Given the description of an element on the screen output the (x, y) to click on. 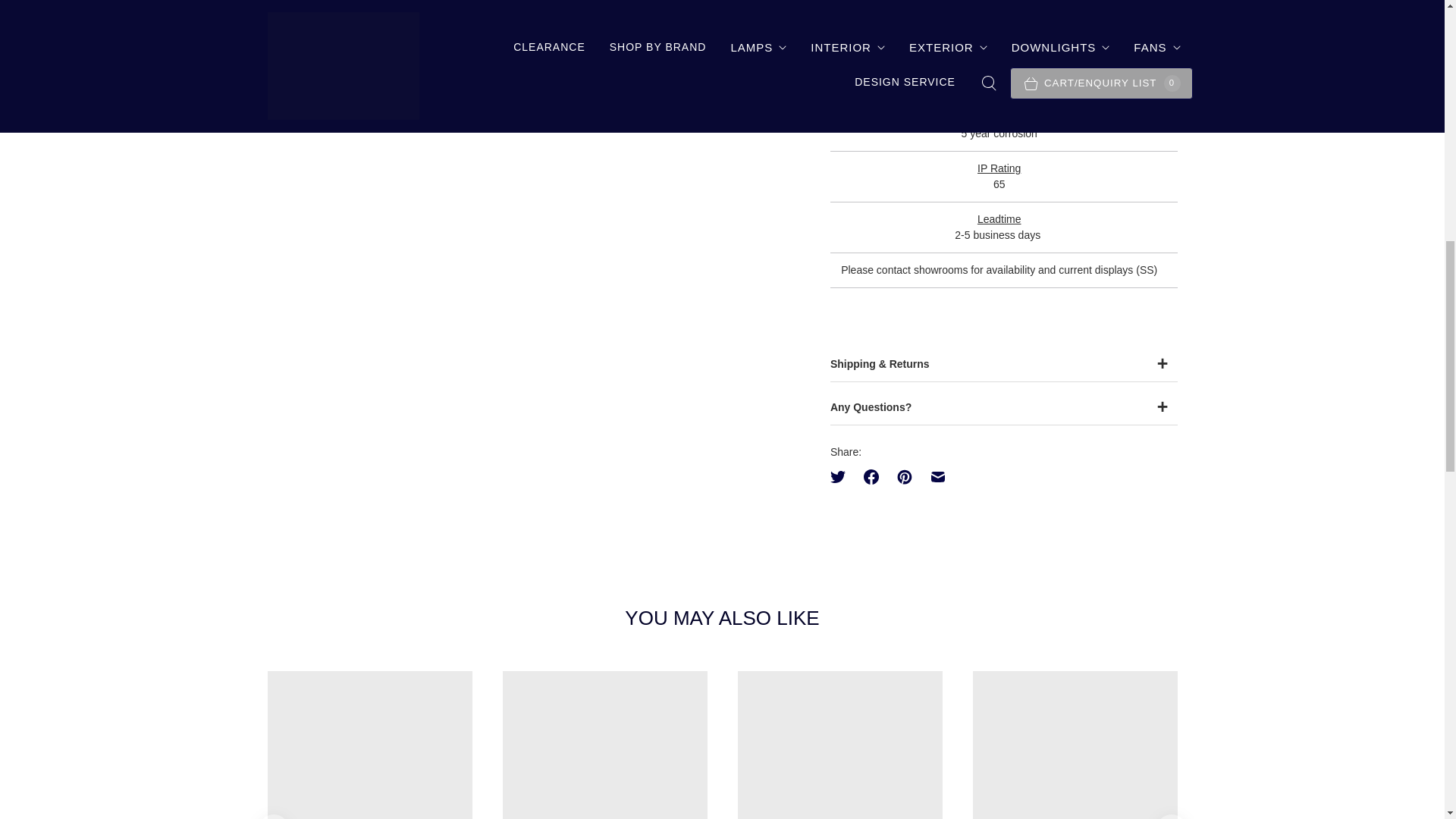
Email this to a friend (938, 476)
Share this on Pinterest (904, 476)
Share this on Facebook (871, 476)
